Given the description of an element on the screen output the (x, y) to click on. 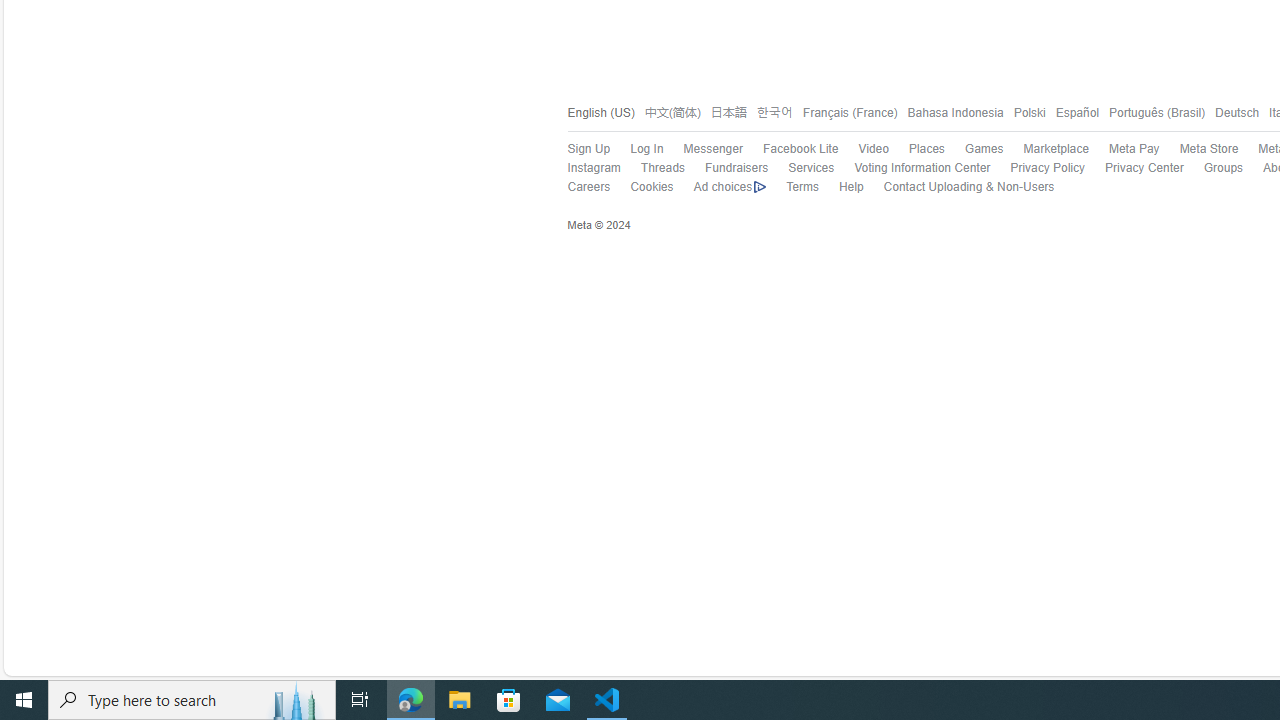
Marketplace (1046, 149)
Voting Information Center (921, 168)
Deutsch (1231, 112)
Threads (662, 168)
Meta Store (1208, 148)
Careers (578, 187)
Deutsch (1236, 112)
Meta Store (1198, 149)
Bahasa Indonesia (955, 112)
Cookies (642, 187)
Meta Pay (1133, 148)
Places (916, 149)
Sign Up (578, 149)
